Given the description of an element on the screen output the (x, y) to click on. 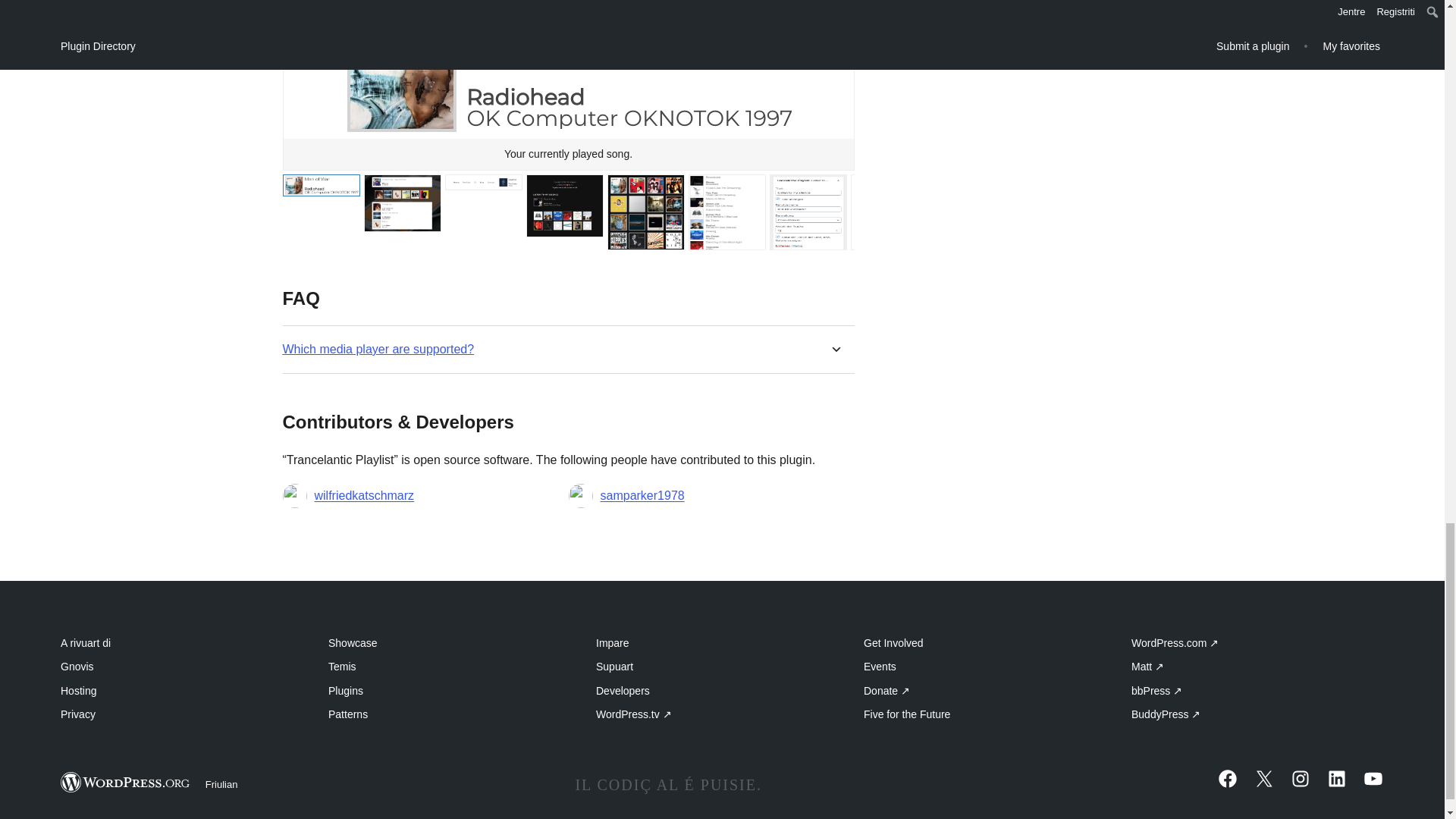
WordPress.org (125, 782)
